Given the description of an element on the screen output the (x, y) to click on. 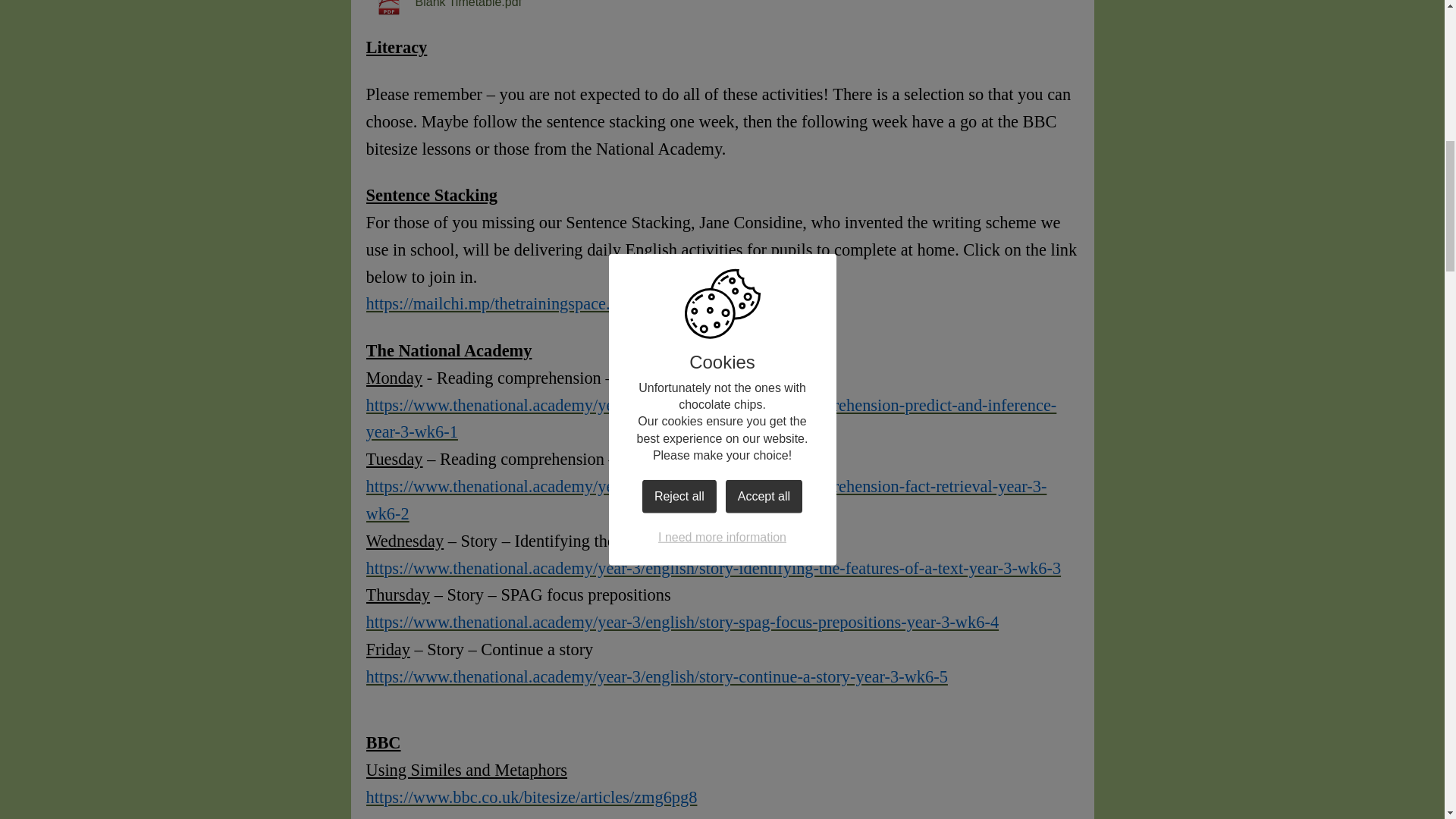
Blank Timetable.pdf (443, 9)
